Given the description of an element on the screen output the (x, y) to click on. 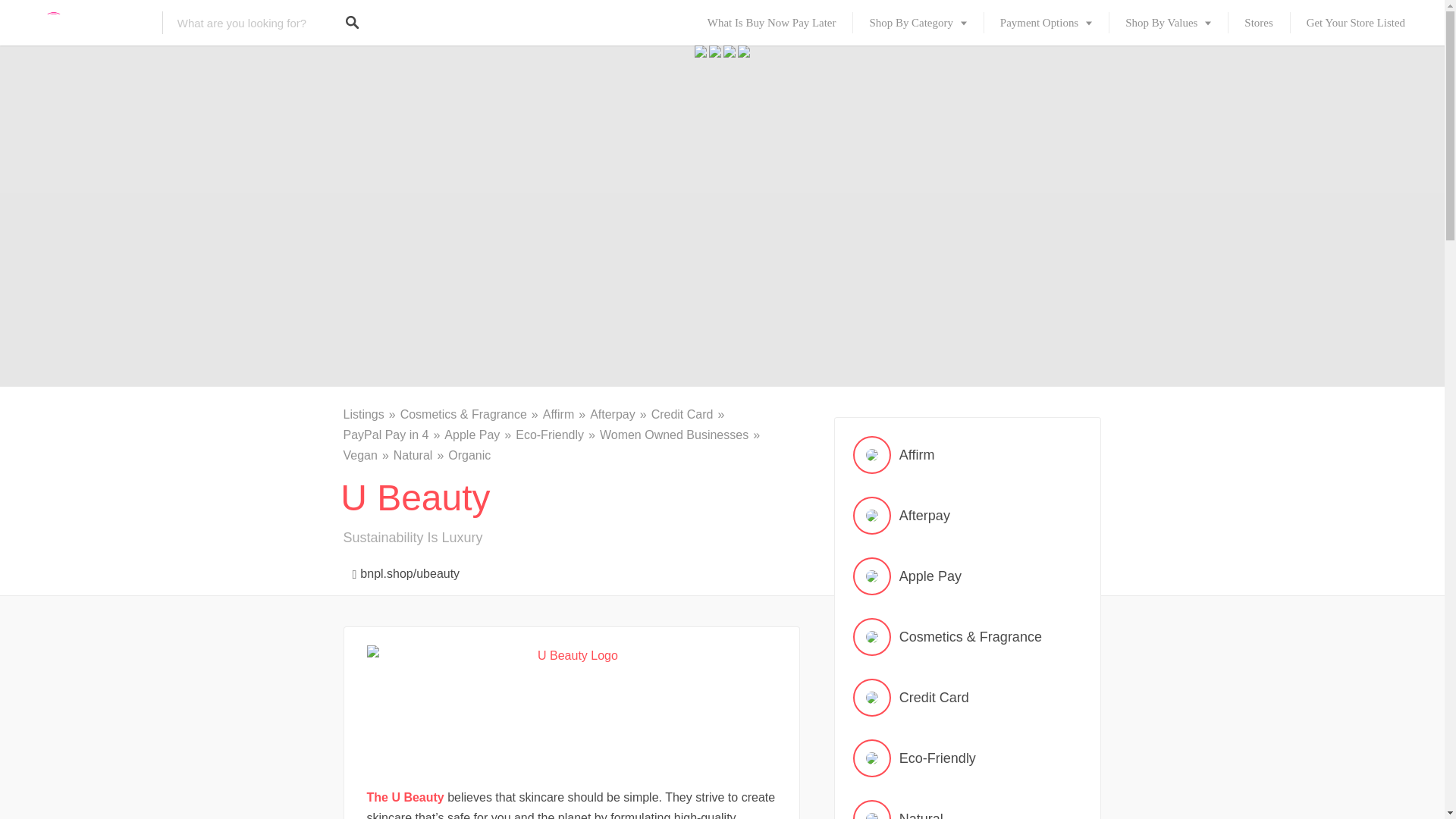
Listings (370, 414)
Get Your Store Listed (1356, 22)
What Is Buy Now Pay Later (771, 22)
Shop By Category (916, 22)
Payment Options (1046, 22)
Shop By Values (1167, 22)
Stores (1257, 22)
